Given the description of an element on the screen output the (x, y) to click on. 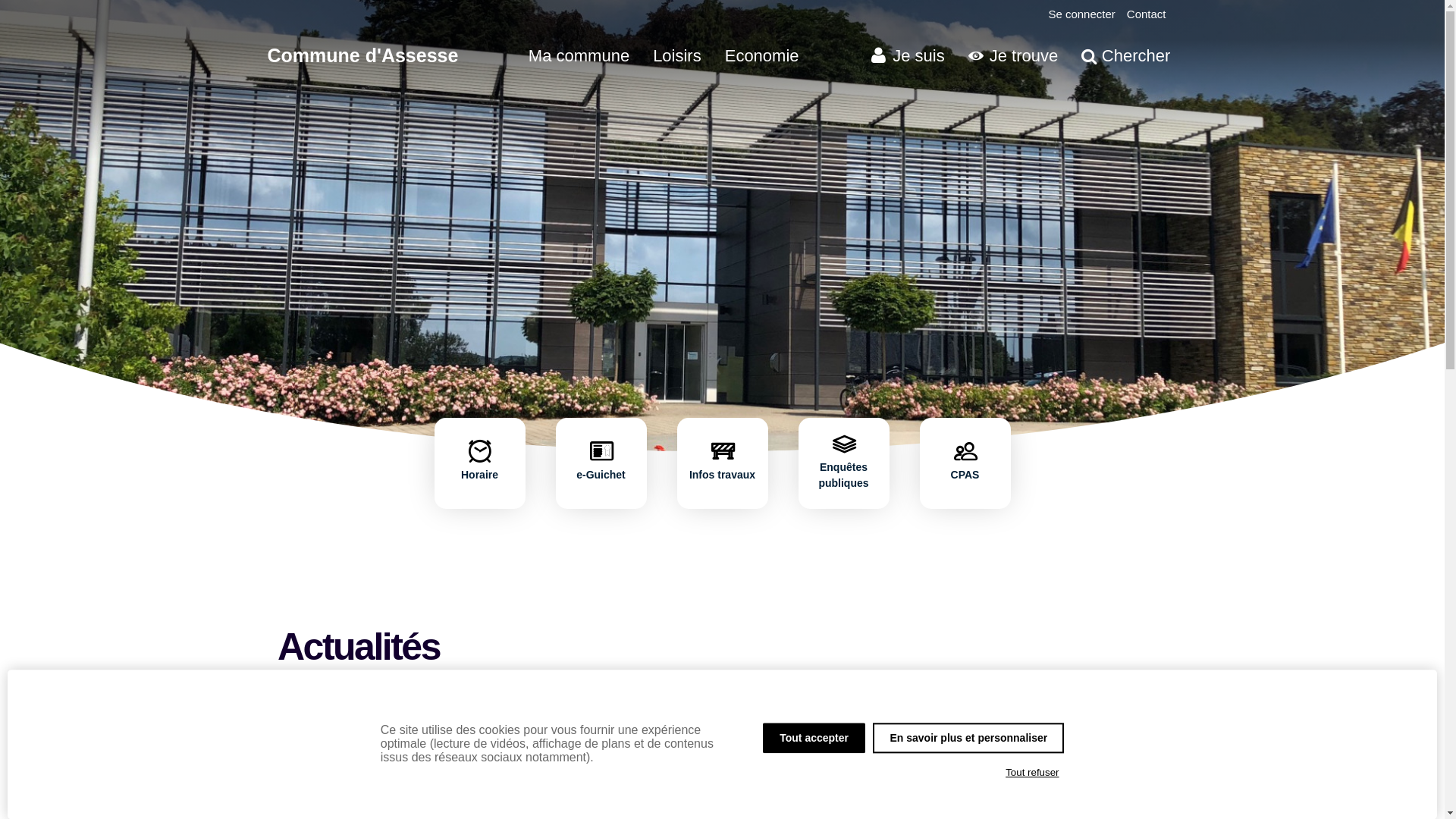
e-Guichet Element type: text (600, 474)
Assesse Element type: hover (362, 57)
Se connecter Element type: text (1081, 13)
Horaire Element type: text (478, 474)
Economie Element type: text (761, 54)
Aller au contenu. Element type: text (1200, 56)
Chercher Element type: text (1125, 54)
Infos travaux Element type: text (721, 474)
CPAS Element type: text (964, 474)
Ma commune Element type: text (578, 54)
Je suis Element type: text (907, 55)
En savoir plus et personnaliser Element type: text (967, 737)
Tout refuser Element type: text (1032, 772)
Tout accepter Element type: text (813, 737)
Loisirs Element type: text (676, 54)
Contact Element type: text (1146, 13)
Je trouve Element type: text (1013, 54)
